Given the description of an element on the screen output the (x, y) to click on. 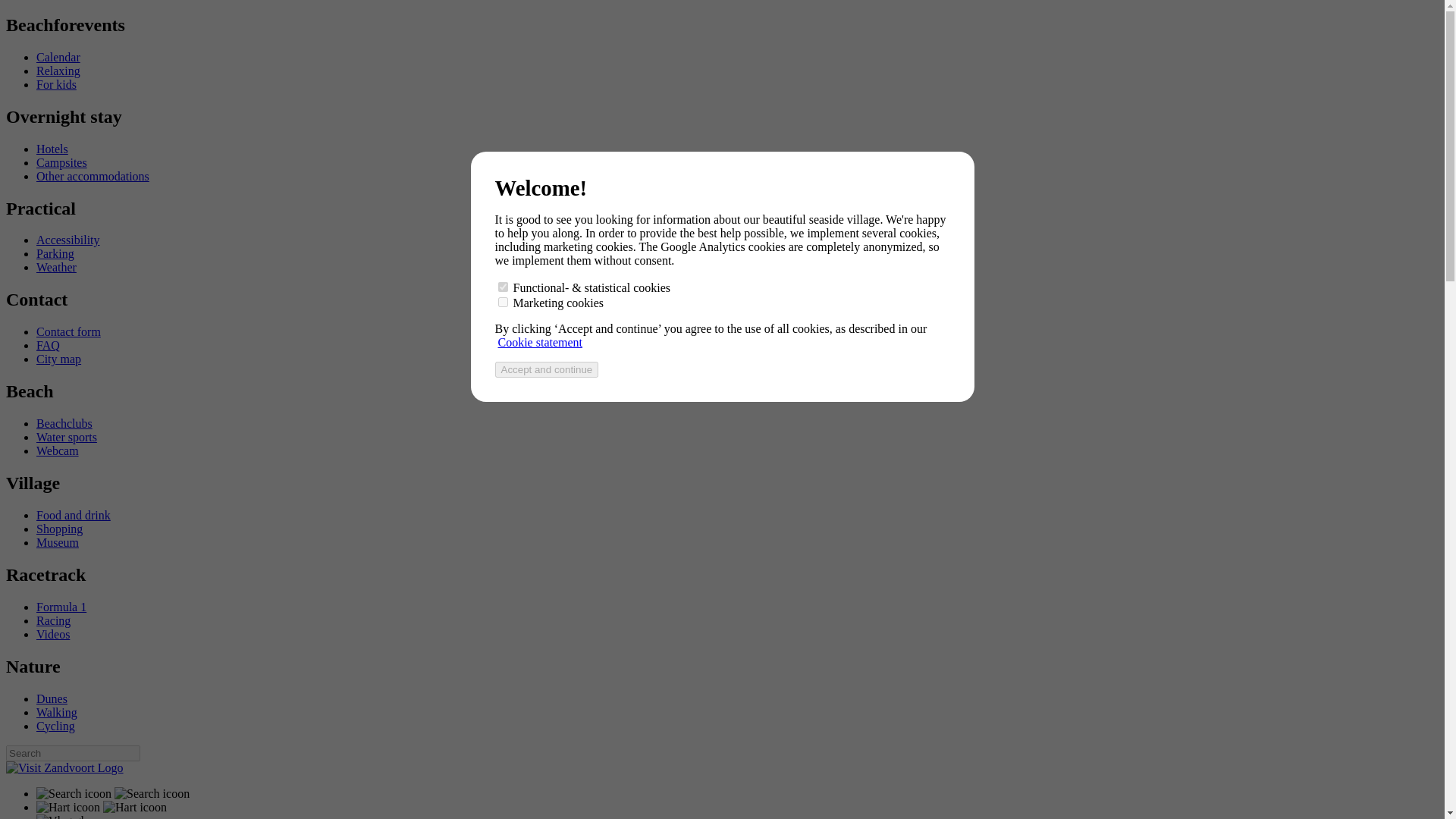
1 (501, 286)
Calendar (58, 56)
Beachclubs (64, 422)
Walking (56, 711)
Racing (52, 620)
Campsites (61, 162)
FAQ (47, 345)
Hotels (52, 148)
City map (58, 358)
Formula 1 (60, 606)
Food and drink (73, 514)
Parking (55, 253)
Other accommodations (92, 175)
Relaxing (58, 70)
For kids (56, 83)
